Given the description of an element on the screen output the (x, y) to click on. 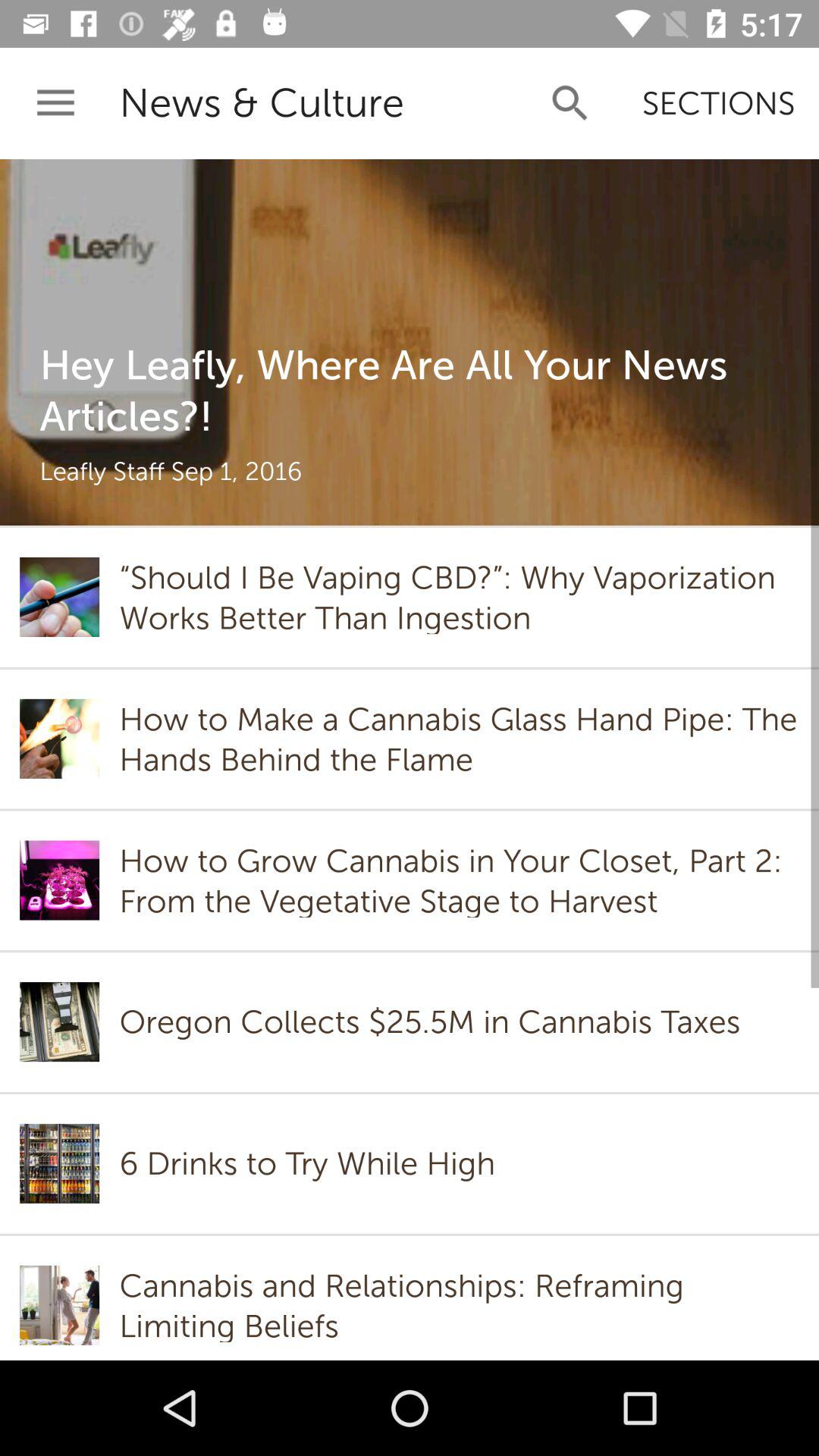
choose the oregon collects 25 icon (434, 1021)
